Given the description of an element on the screen output the (x, y) to click on. 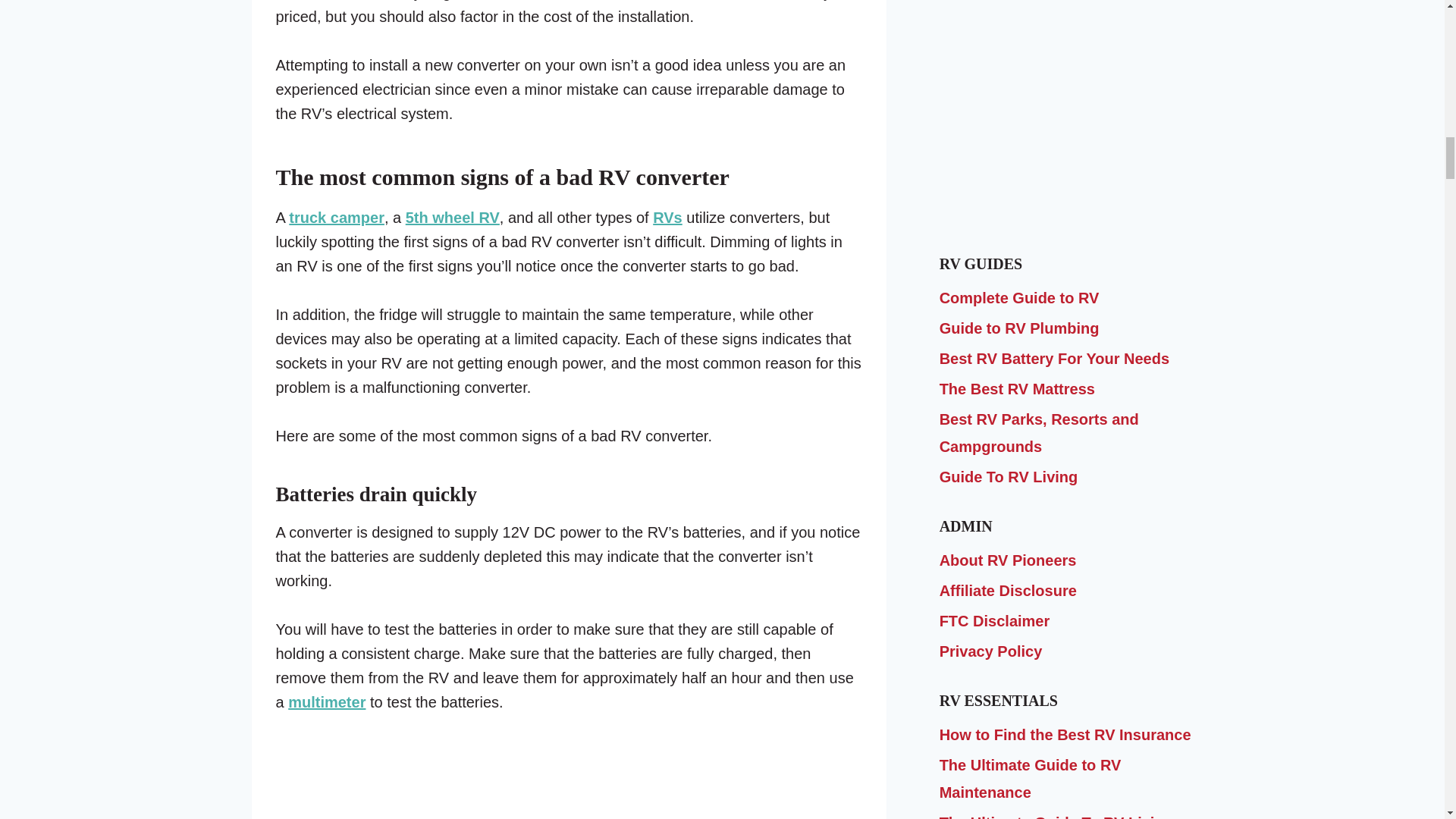
How to Change Your RV Battery (1066, 157)
truck camper (336, 217)
Furrion (676, 0)
